Given the description of an element on the screen output the (x, y) to click on. 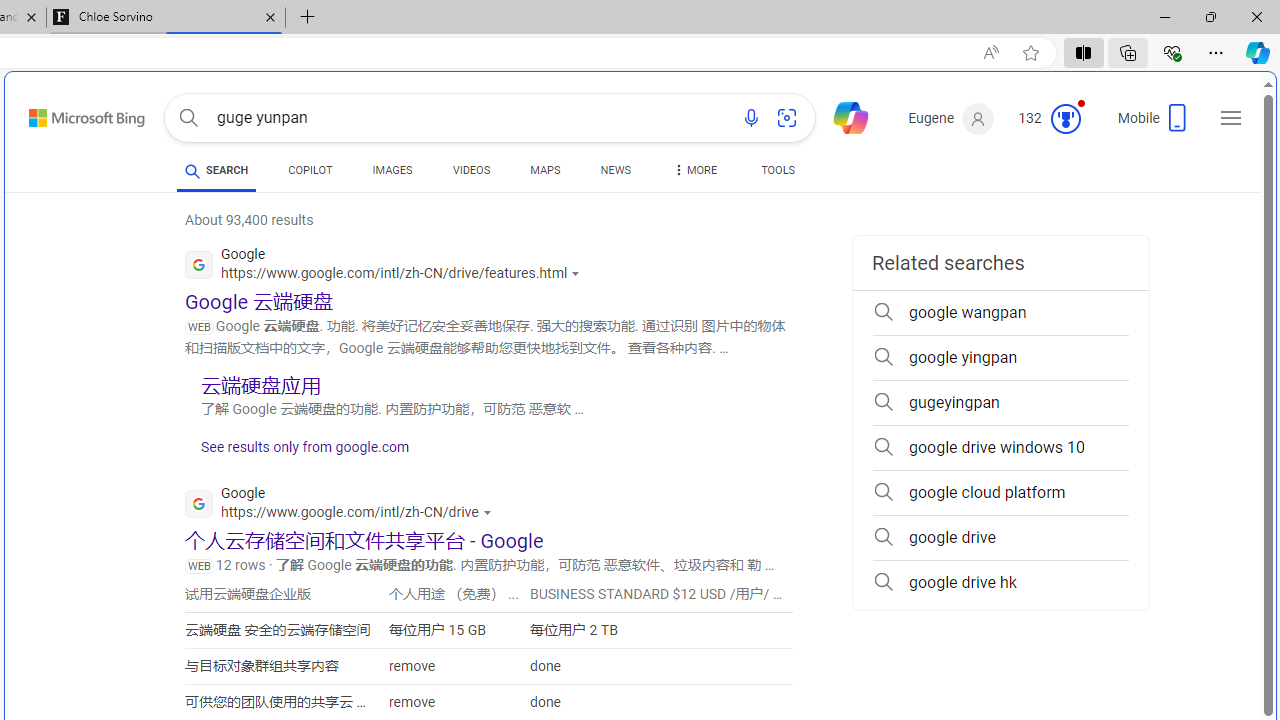
Back to Bing search (74, 113)
google drive windows 10 (1000, 448)
New Tab (308, 17)
Add this page to favorites (Ctrl+D) (1030, 53)
VIDEOS (471, 170)
MORE (693, 173)
Microsoft Rewards 123 (1052, 119)
Collections (1128, 52)
Copilot (Ctrl+Shift+.) (1258, 52)
Chat (842, 116)
Mobile (1154, 124)
